Given the description of an element on the screen output the (x, y) to click on. 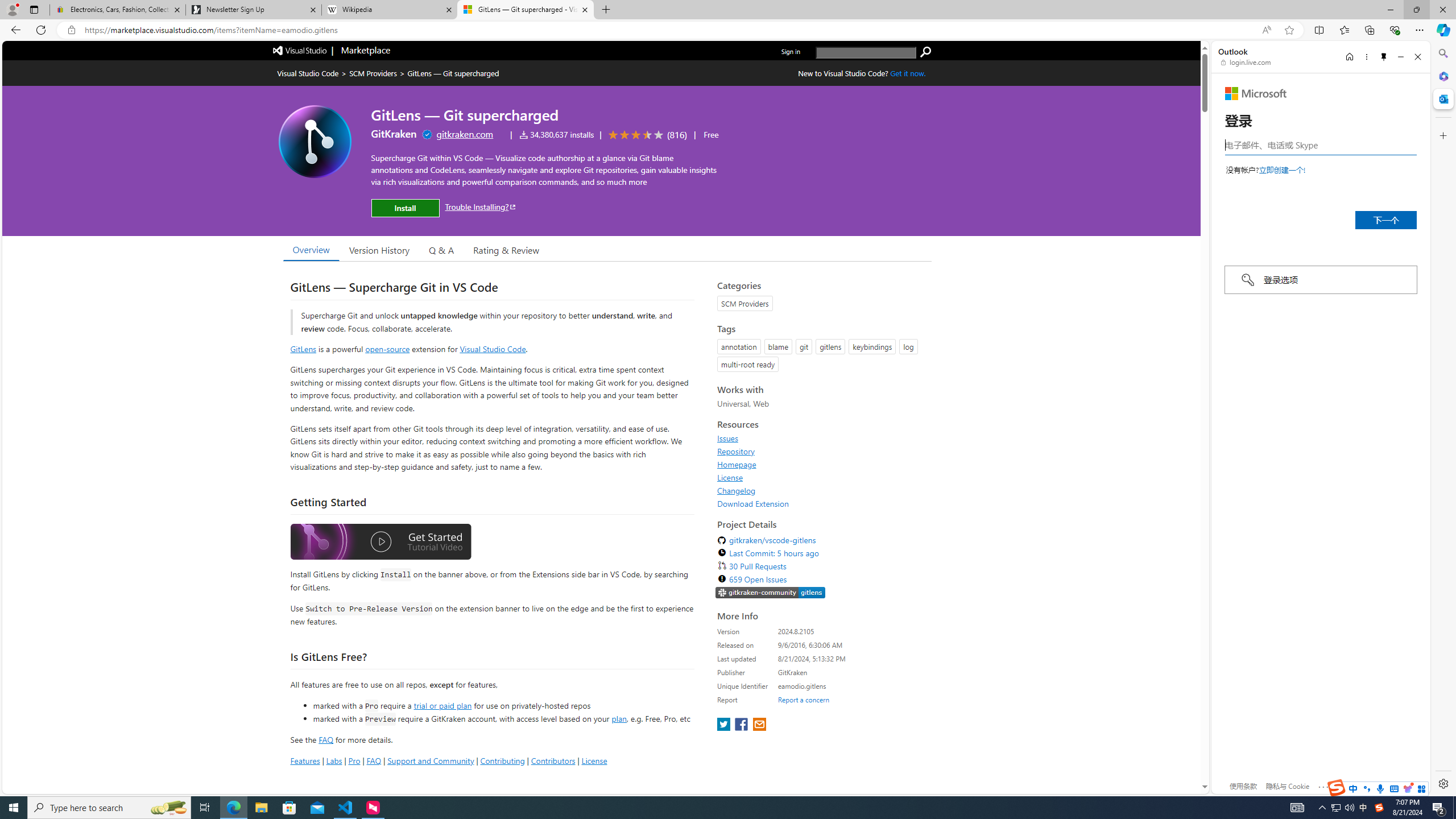
Q & A (441, 249)
trial or paid plan (442, 704)
gitkraken.com (464, 133)
Favorites (1344, 29)
open-source (387, 348)
More from GitKraken publisher (393, 133)
Average rating: 3.7 out of 5. Navigate to user reviews. (645, 134)
https://slack.gitkraken.com// (769, 592)
